Given the description of an element on the screen output the (x, y) to click on. 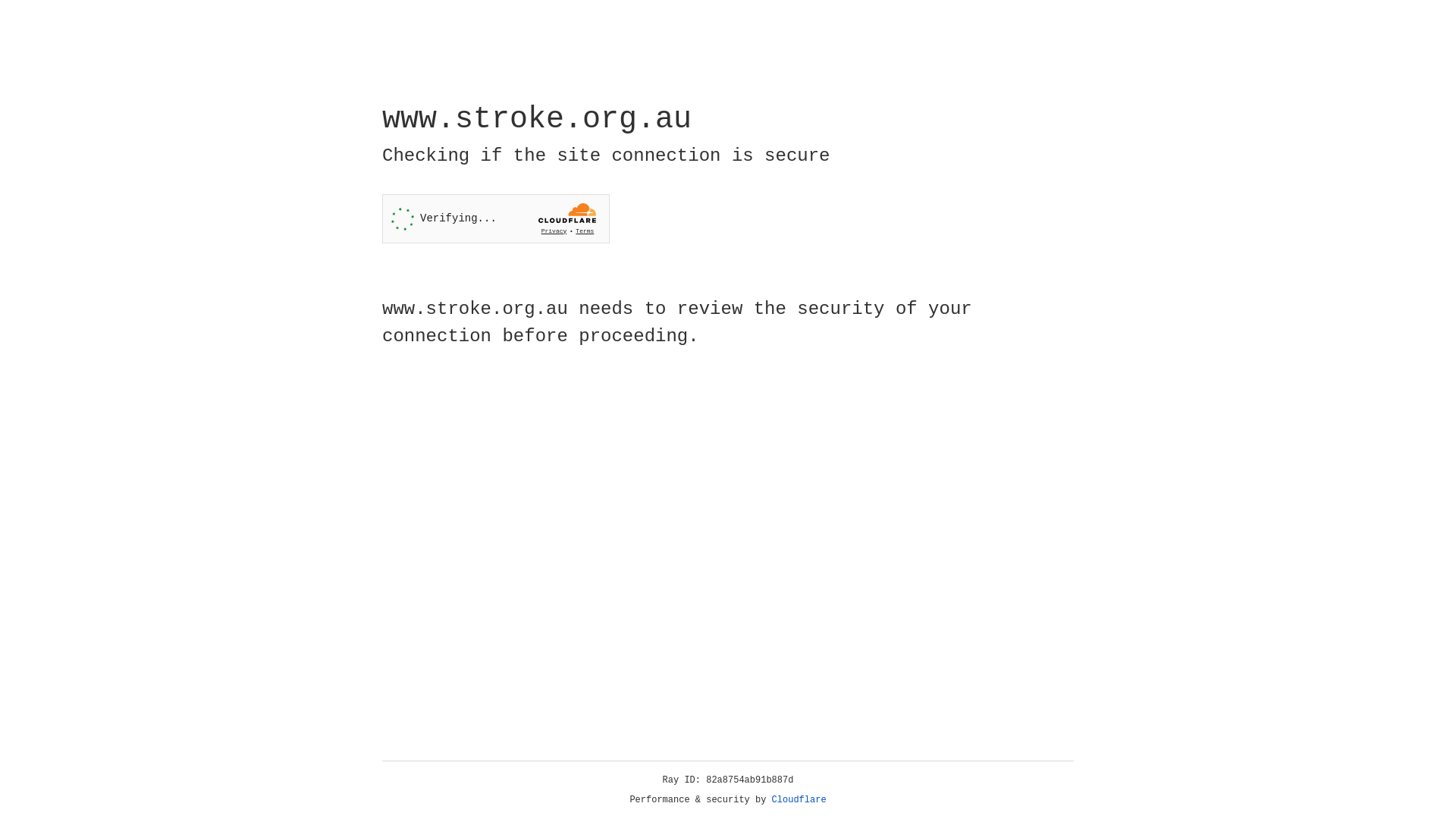
Cloudflare Element type: text (798, 799)
Widget containing a Cloudflare security challenge Element type: hover (495, 218)
